Given the description of an element on the screen output the (x, y) to click on. 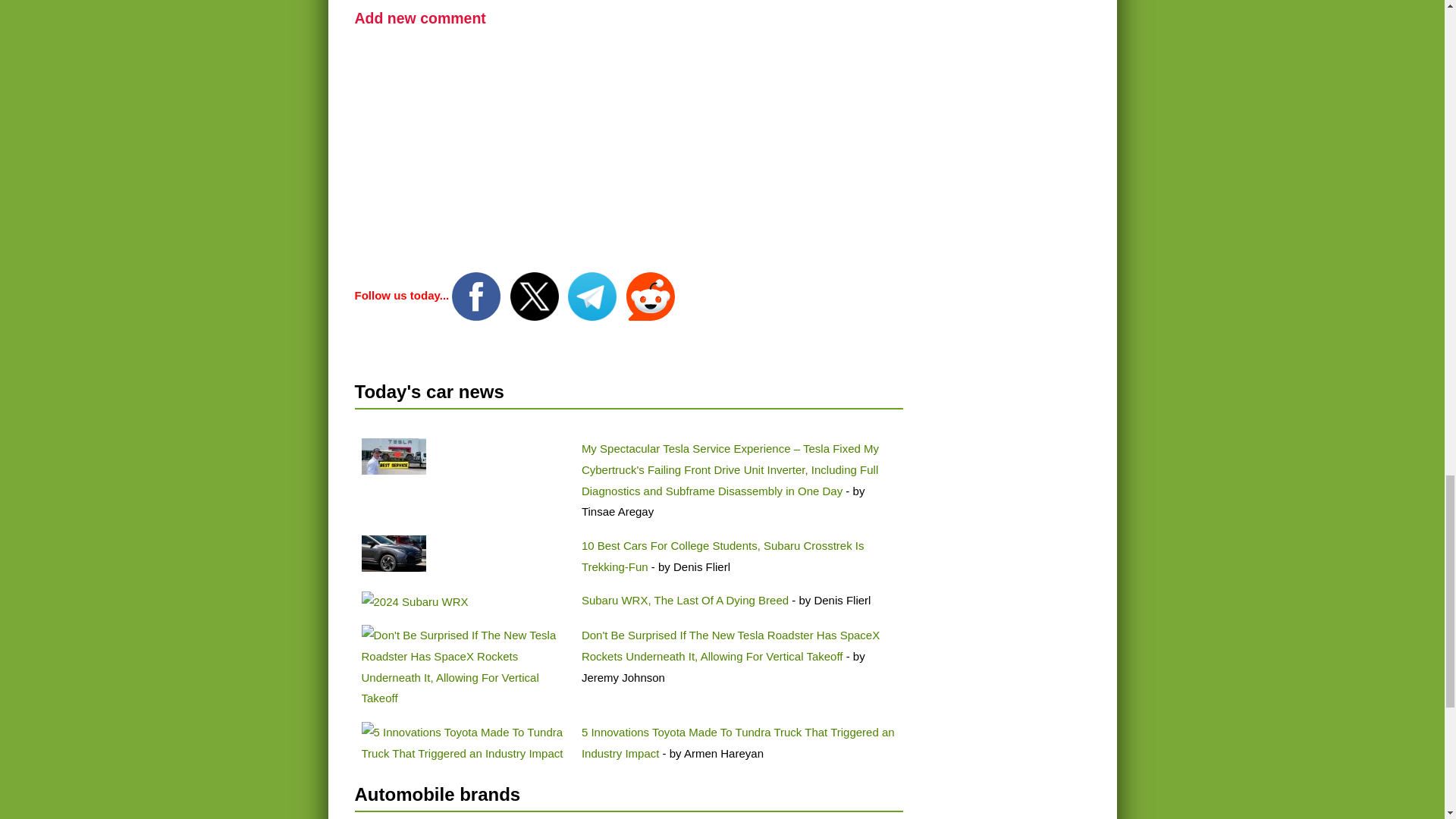
Share your thoughts and opinions. (420, 17)
Subaru WRX, The Last Of A Dying Breed (686, 599)
2024 Subaru Crosstrek front end view (393, 553)
Add new comment (420, 17)
Join us on Reddit! (650, 295)
Two 2024 Subaru WRX models side by side (414, 601)
Join us on Telegram! (593, 295)
